Given the description of an element on the screen output the (x, y) to click on. 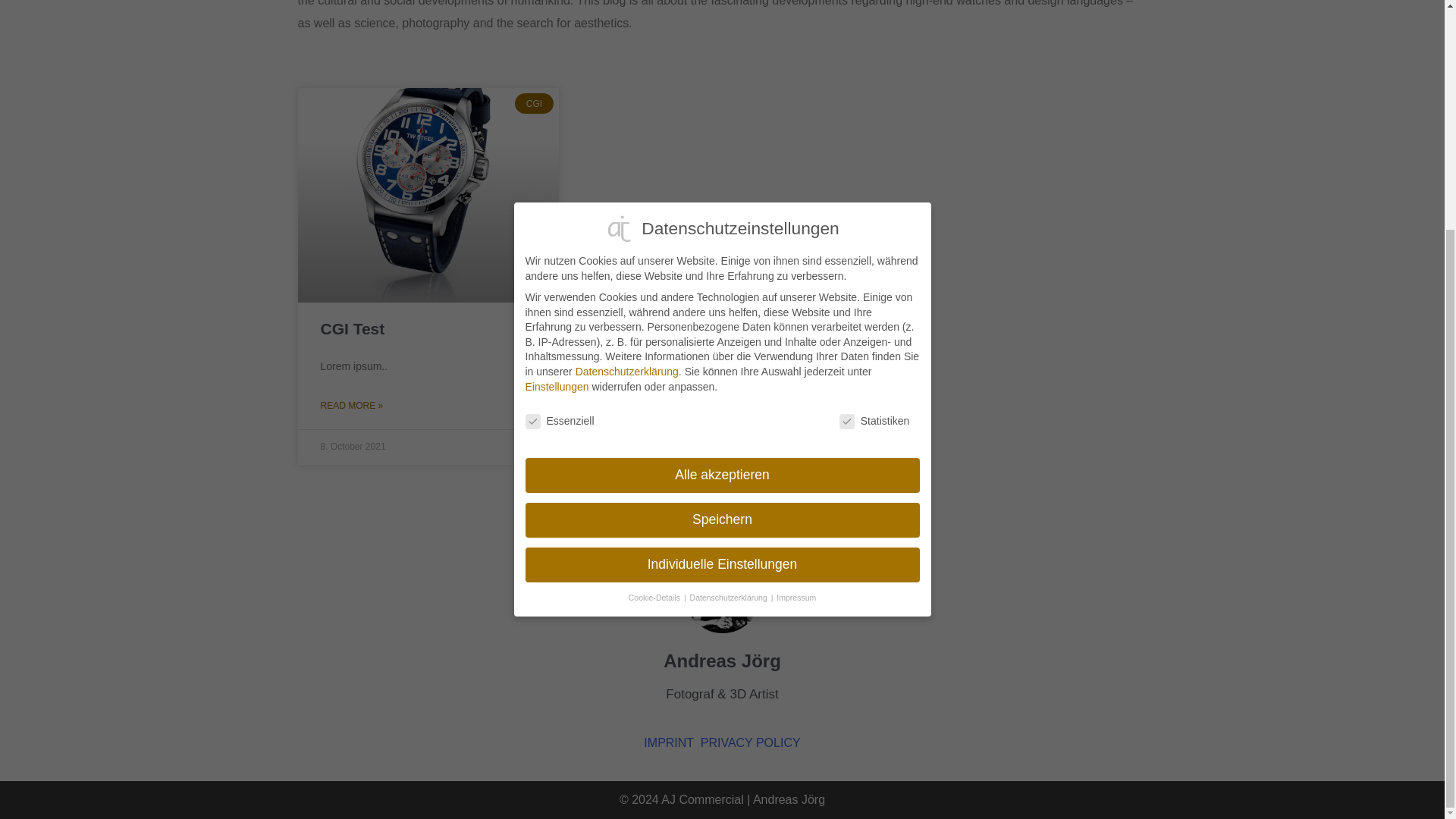
Speichern (721, 210)
Individuelle Einstellungen (721, 255)
Einstellungen (556, 77)
Alle akzeptieren (721, 165)
Cookie-Details (655, 287)
IMPRINT (668, 742)
CGI Test (352, 328)
PRIVACY POLICY (750, 742)
